Given the description of an element on the screen output the (x, y) to click on. 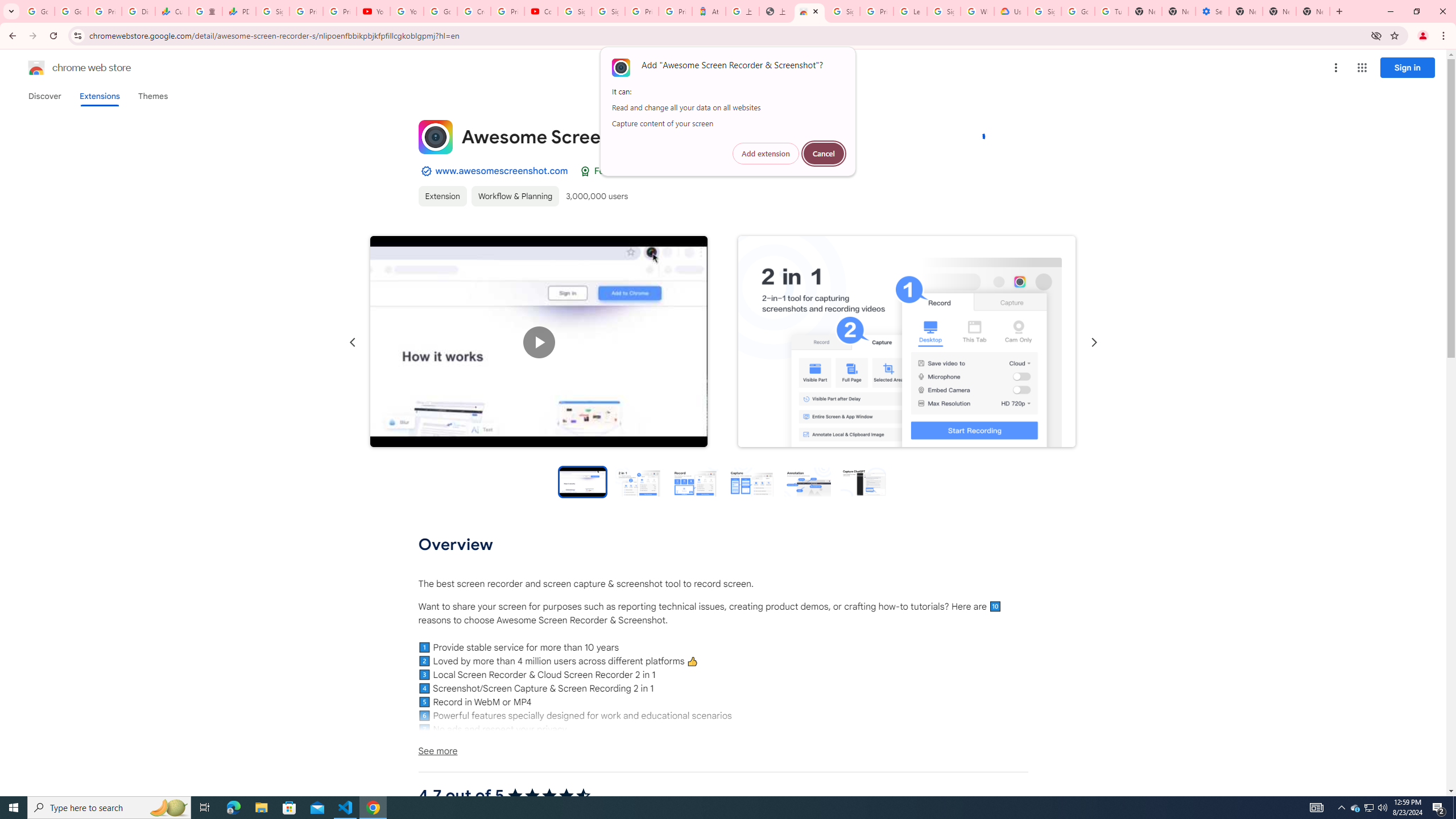
Workflow & Planning (514, 195)
Add extension (765, 153)
Sign in - Google Accounts (842, 11)
Settings - Addresses and more (1212, 11)
Privacy Checkup (339, 11)
Item media 2 screenshot (906, 342)
Start (13, 807)
Search highlights icon opens search home window (167, 807)
Microsoft Edge (233, 807)
Extension (442, 195)
Create your Google Account (474, 11)
